Given the description of an element on the screen output the (x, y) to click on. 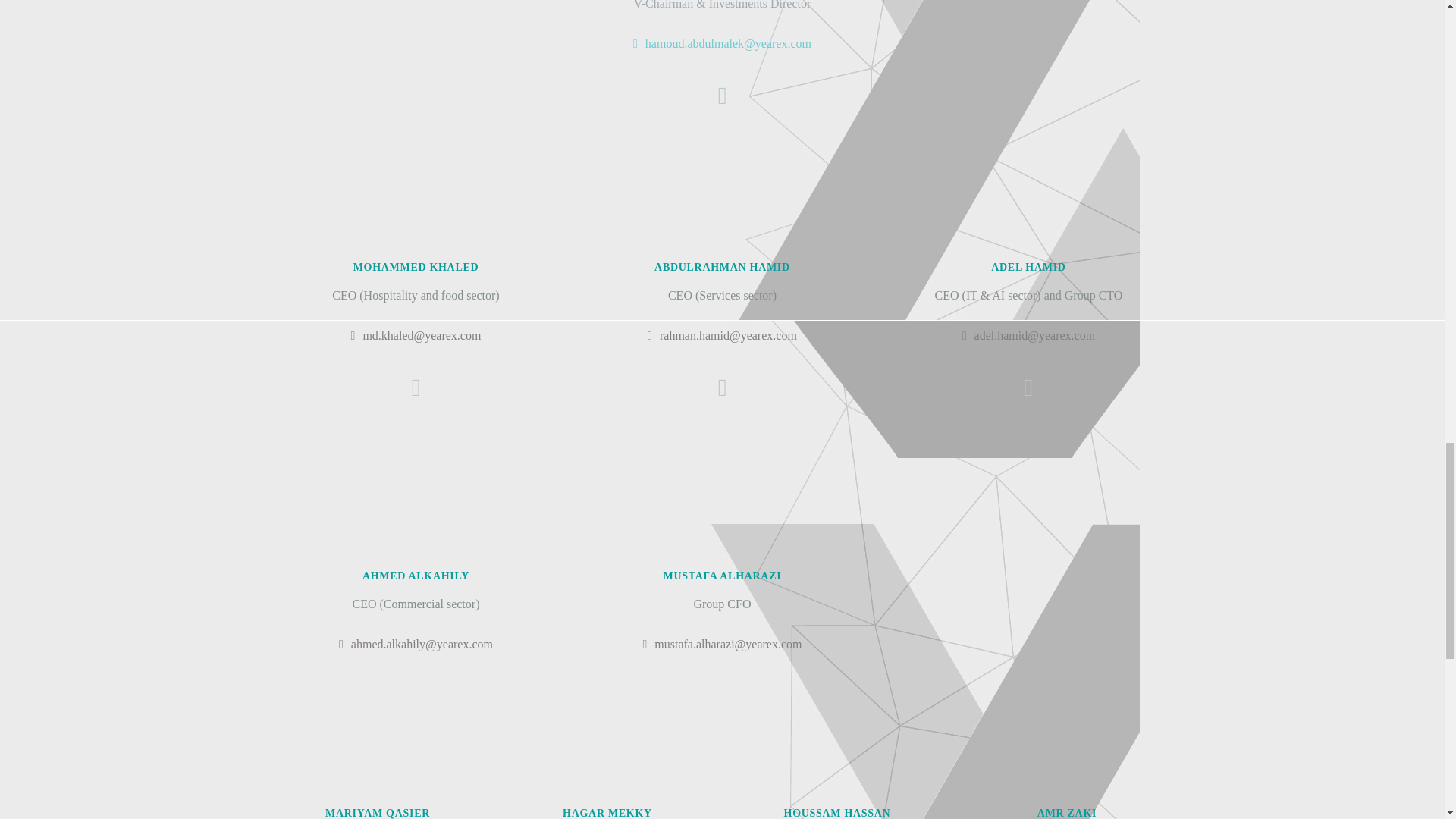
LinkedIn (721, 95)
LinkedIn (721, 387)
LinkedIn (415, 387)
LinkedIn (1028, 387)
